Given the description of an element on the screen output the (x, y) to click on. 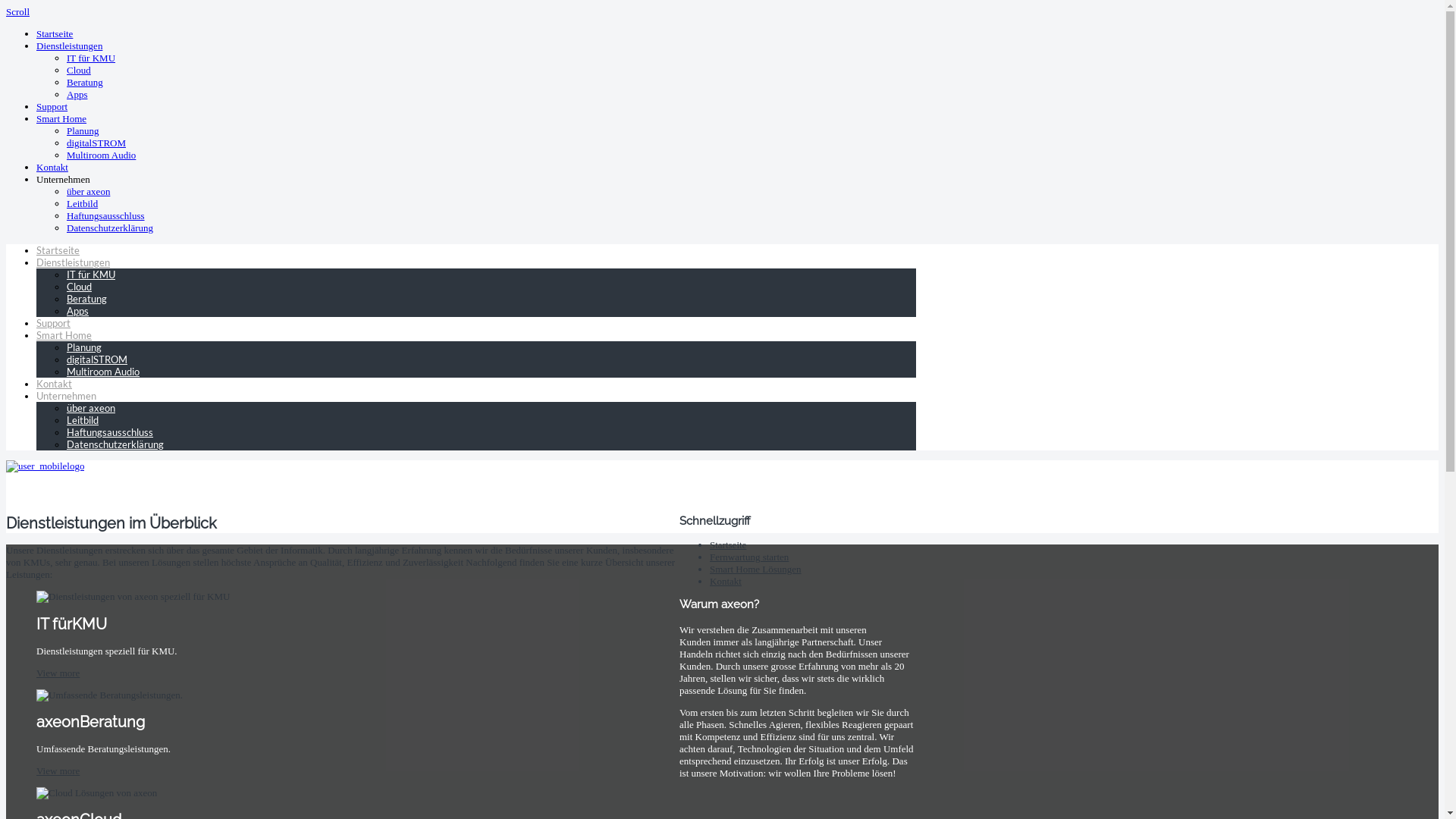
Haftungsausschluss Element type: text (105, 215)
Kontakt Element type: text (725, 580)
Unternehmen Element type: text (66, 395)
Kontakt Element type: text (52, 166)
Unternehmen Element type: text (63, 179)
Support Element type: text (51, 106)
Leitbild Element type: text (82, 420)
Haftungsausschluss Element type: text (109, 432)
Startseite Element type: text (54, 33)
Smart Home Element type: text (63, 335)
Multiroom Audio Element type: text (102, 371)
Beratung Element type: text (84, 81)
View more Element type: text (57, 770)
Beratung Element type: text (86, 298)
Multiroom Audio Element type: text (100, 154)
Cloud Element type: text (78, 286)
Support Element type: text (53, 322)
Cloud Element type: text (78, 69)
Kontakt Element type: text (54, 383)
Apps Element type: text (77, 310)
digitalSTROM Element type: text (95, 142)
Startseite Element type: text (727, 544)
Fernwartung starten Element type: text (748, 556)
Smart Home Element type: text (61, 118)
View more Element type: text (57, 672)
Apps Element type: text (76, 94)
Dienstleistungen Element type: text (69, 45)
Planung Element type: text (83, 347)
Startseite Element type: text (57, 250)
Scroll Element type: text (17, 11)
digitalSTROM Element type: text (96, 359)
Leitbild Element type: text (81, 203)
Dienstleistungen Element type: text (72, 262)
Planung Element type: text (82, 130)
